Given the description of an element on the screen output the (x, y) to click on. 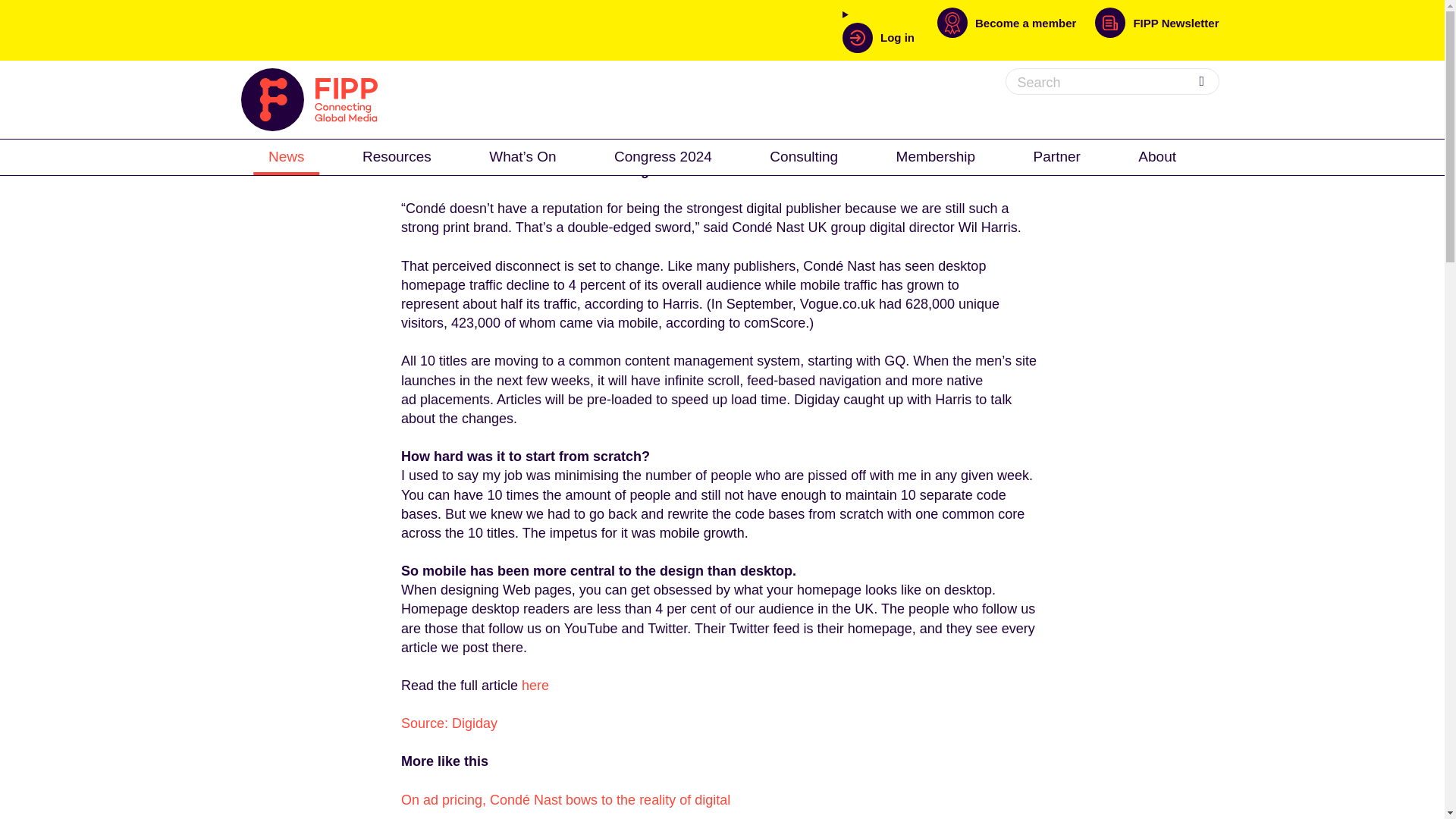
Resources (396, 155)
News (286, 155)
here (534, 685)
Membership (935, 155)
Partner (1056, 155)
Consulting (803, 155)
FIPP Newsletter (1156, 30)
Congress 2024 (662, 155)
Source: Digiday (449, 723)
About (1156, 155)
